Given the description of an element on the screen output the (x, y) to click on. 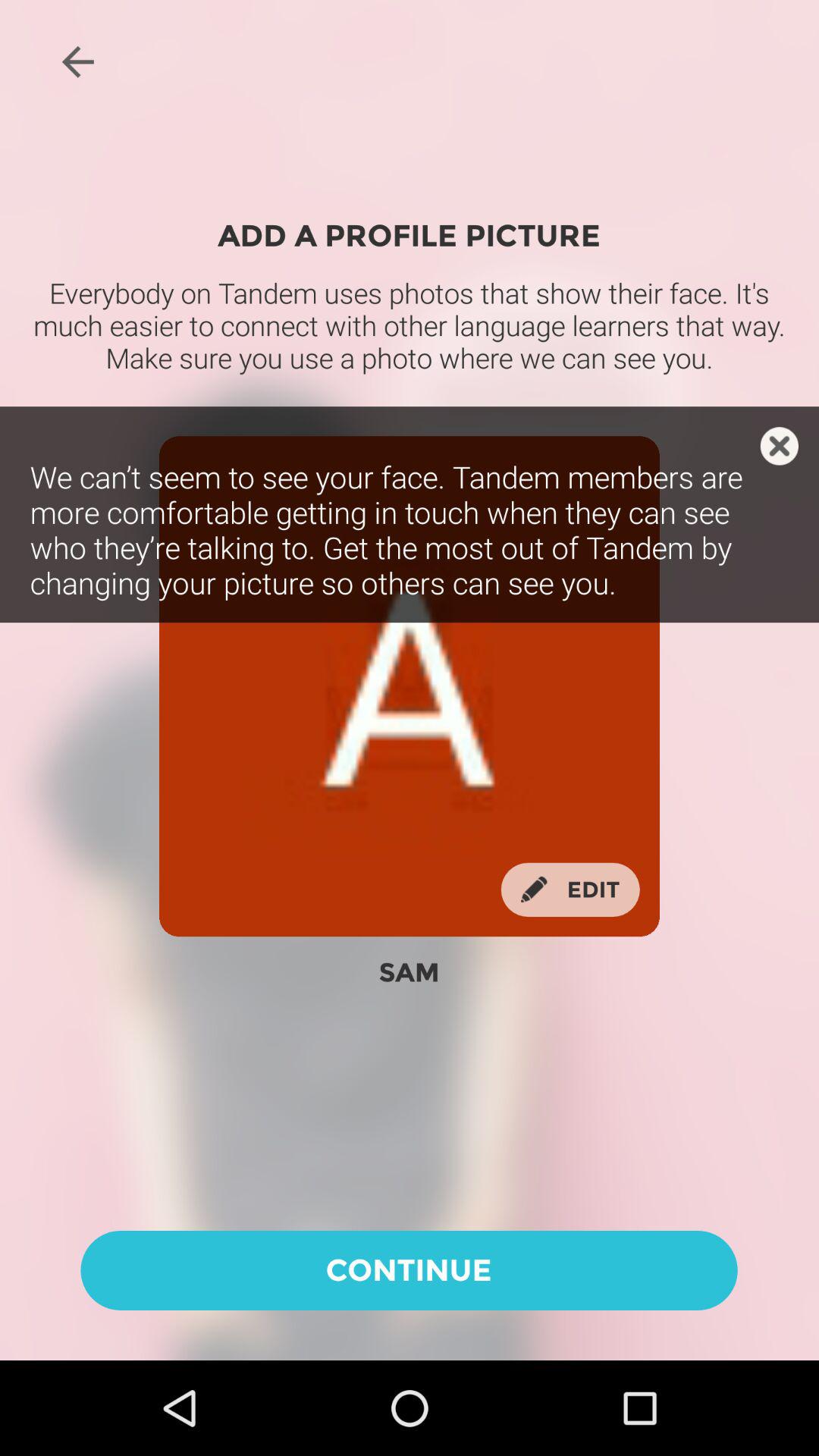
press the icon above the everybody on tandem icon (77, 61)
